Given the description of an element on the screen output the (x, y) to click on. 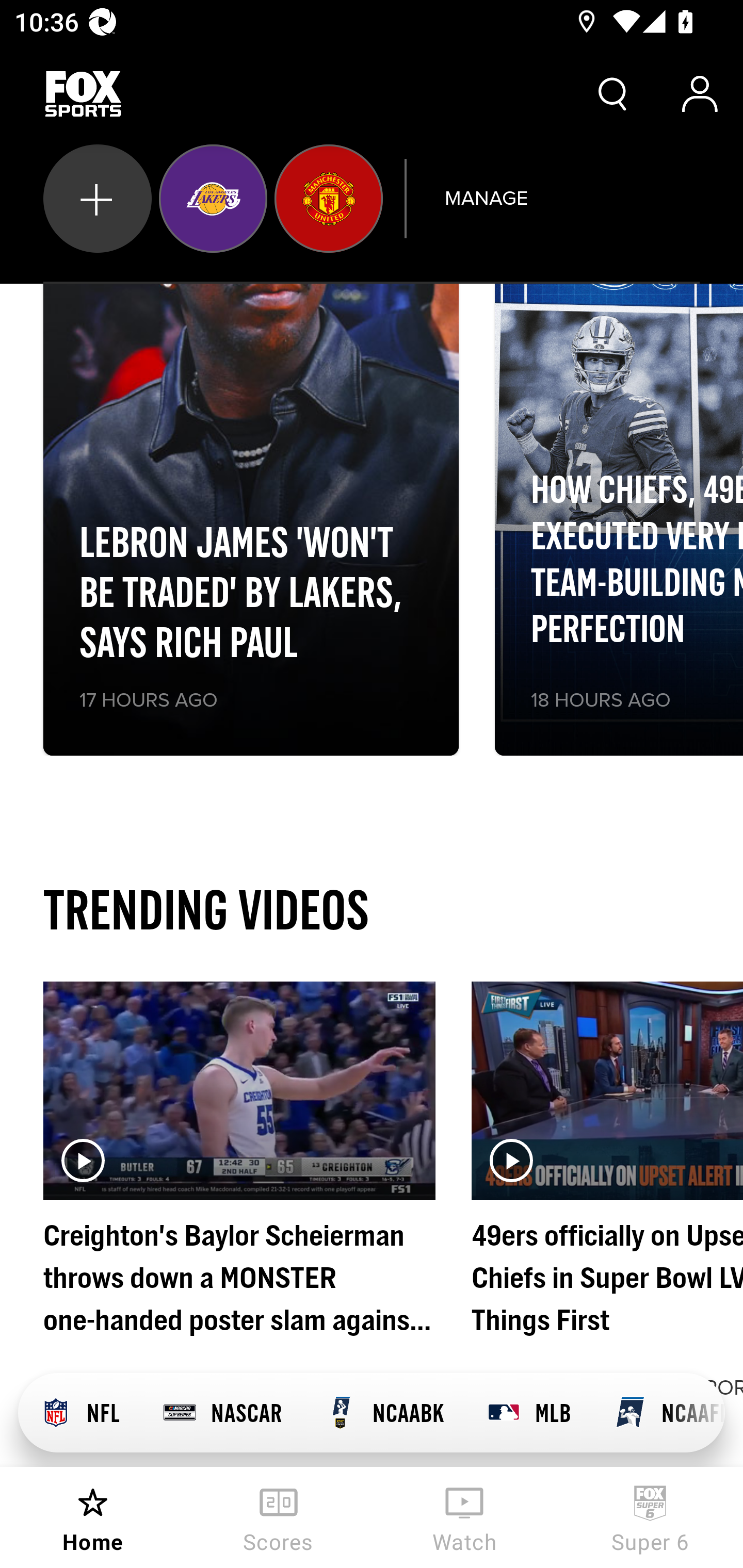
Search (612, 93)
Account (699, 93)
MANAGE (485, 198)
NFL (79, 1412)
NASCAR (222, 1412)
NCAABK (384, 1412)
MLB (528, 1412)
NCAAFB (658, 1412)
Scores (278, 1517)
Watch (464, 1517)
Super 6 (650, 1517)
